Given the description of an element on the screen output the (x, y) to click on. 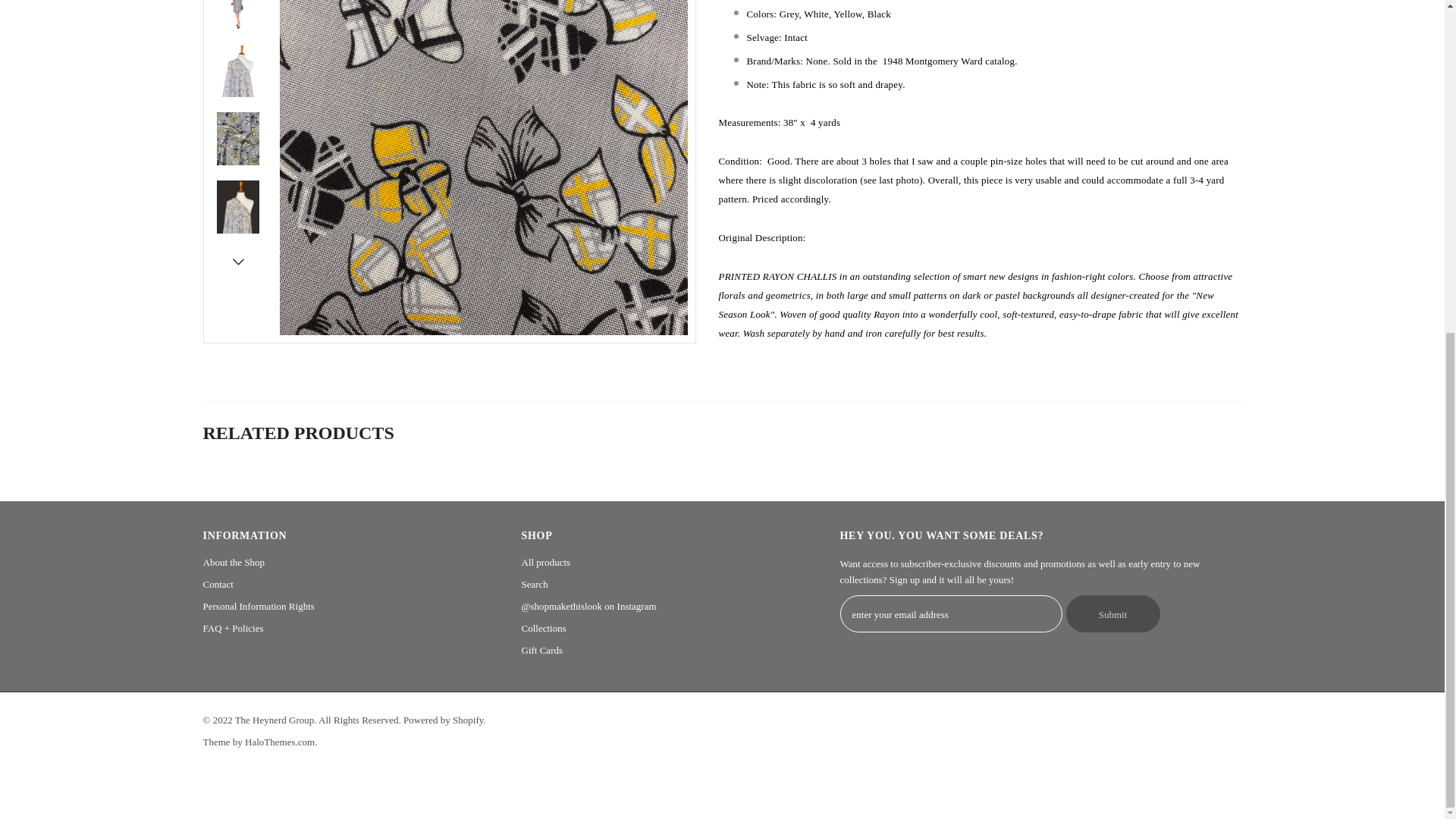
Search (534, 584)
About the Shop (233, 562)
Contact (217, 584)
All products (545, 562)
Personal Information Rights (258, 606)
Submit (1112, 613)
